Given the description of an element on the screen output the (x, y) to click on. 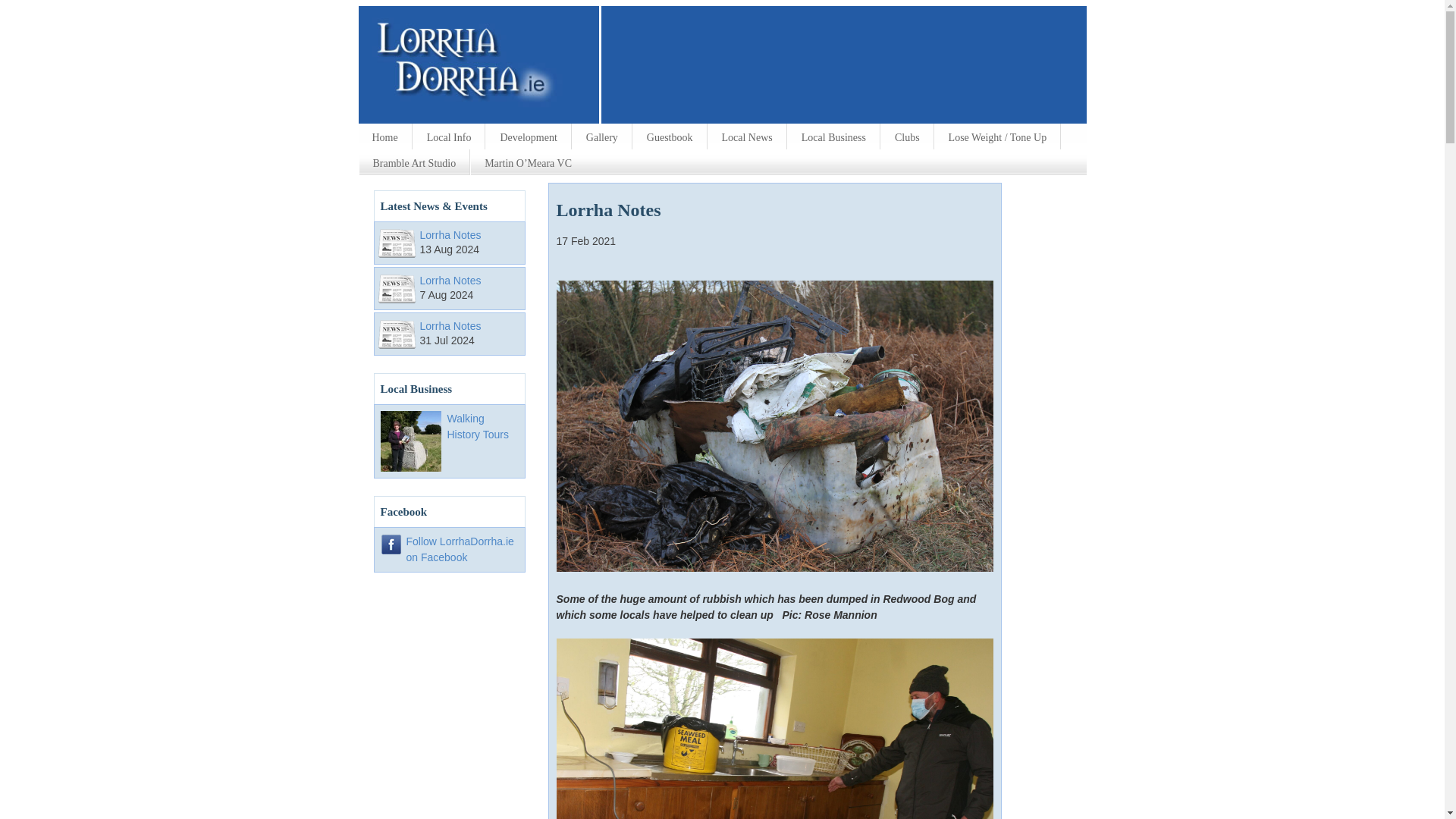
Bramble Art Studio (414, 162)
Walking History Tours (477, 426)
Gallery (601, 136)
Clubs (906, 136)
Home (384, 136)
Permanent link to Lorrha Notes (450, 280)
Local Info (448, 136)
Local Business (833, 136)
Lorrha Notes (450, 234)
Permanent link to Lorrha Notes (450, 234)
